Given the description of an element on the screen output the (x, y) to click on. 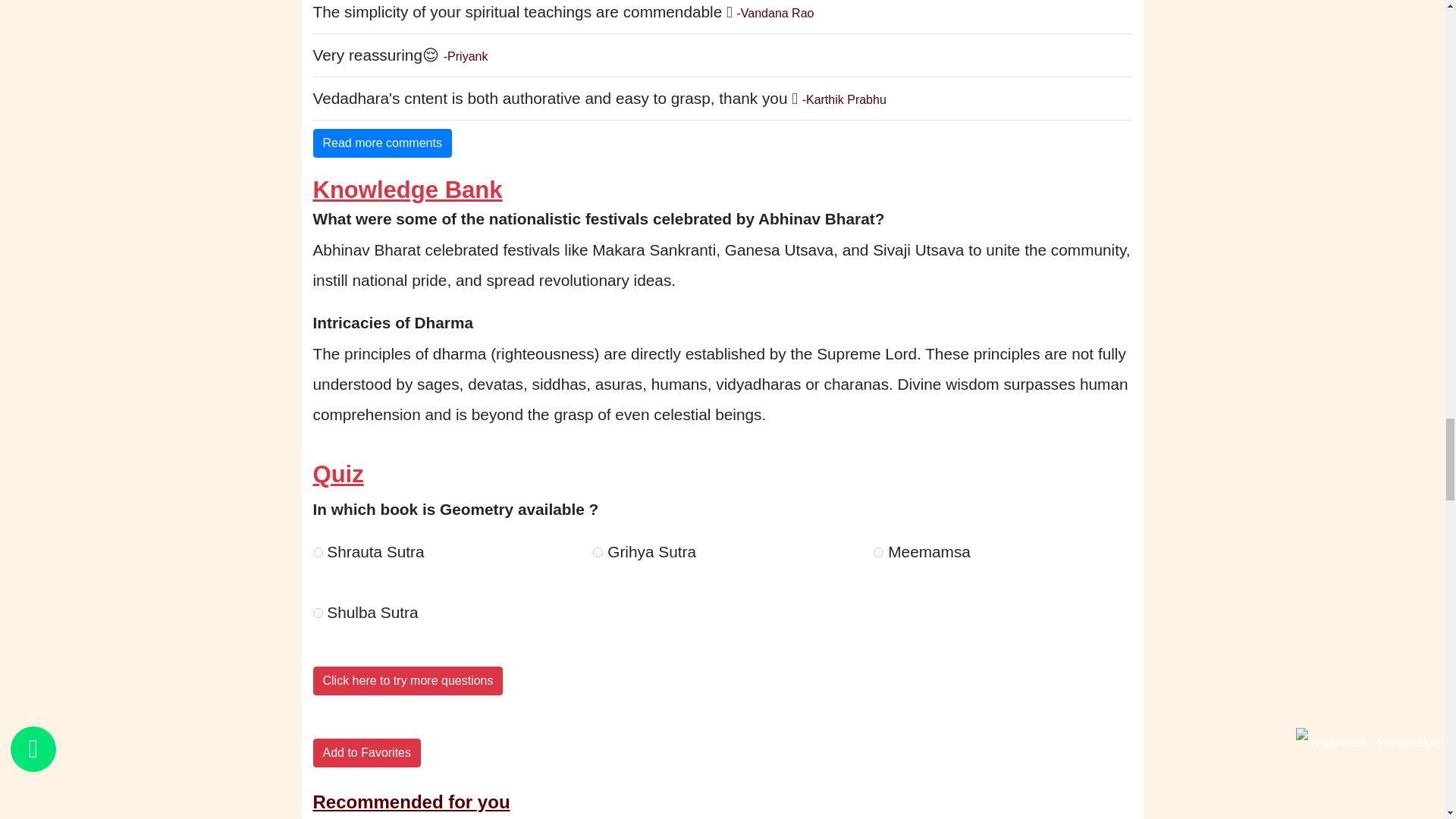
C (878, 552)
D (317, 613)
B (597, 552)
A (317, 552)
